Given the description of an element on the screen output the (x, y) to click on. 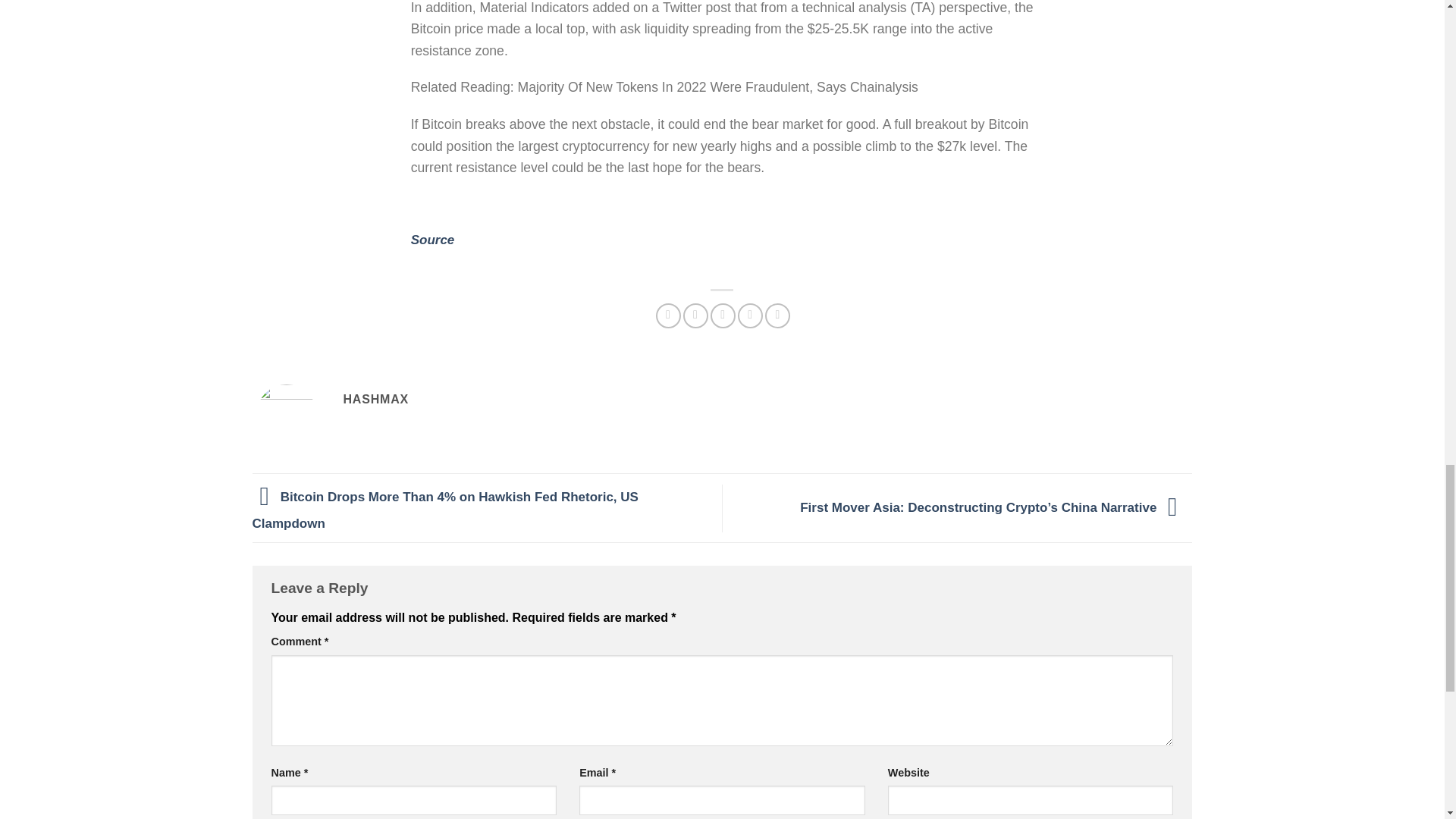
Email to a Friend (722, 315)
Share on LinkedIn (777, 315)
Pin on Pinterest (750, 315)
Share on Twitter (694, 315)
Share on Facebook (668, 315)
Source (432, 239)
